Given the description of an element on the screen output the (x, y) to click on. 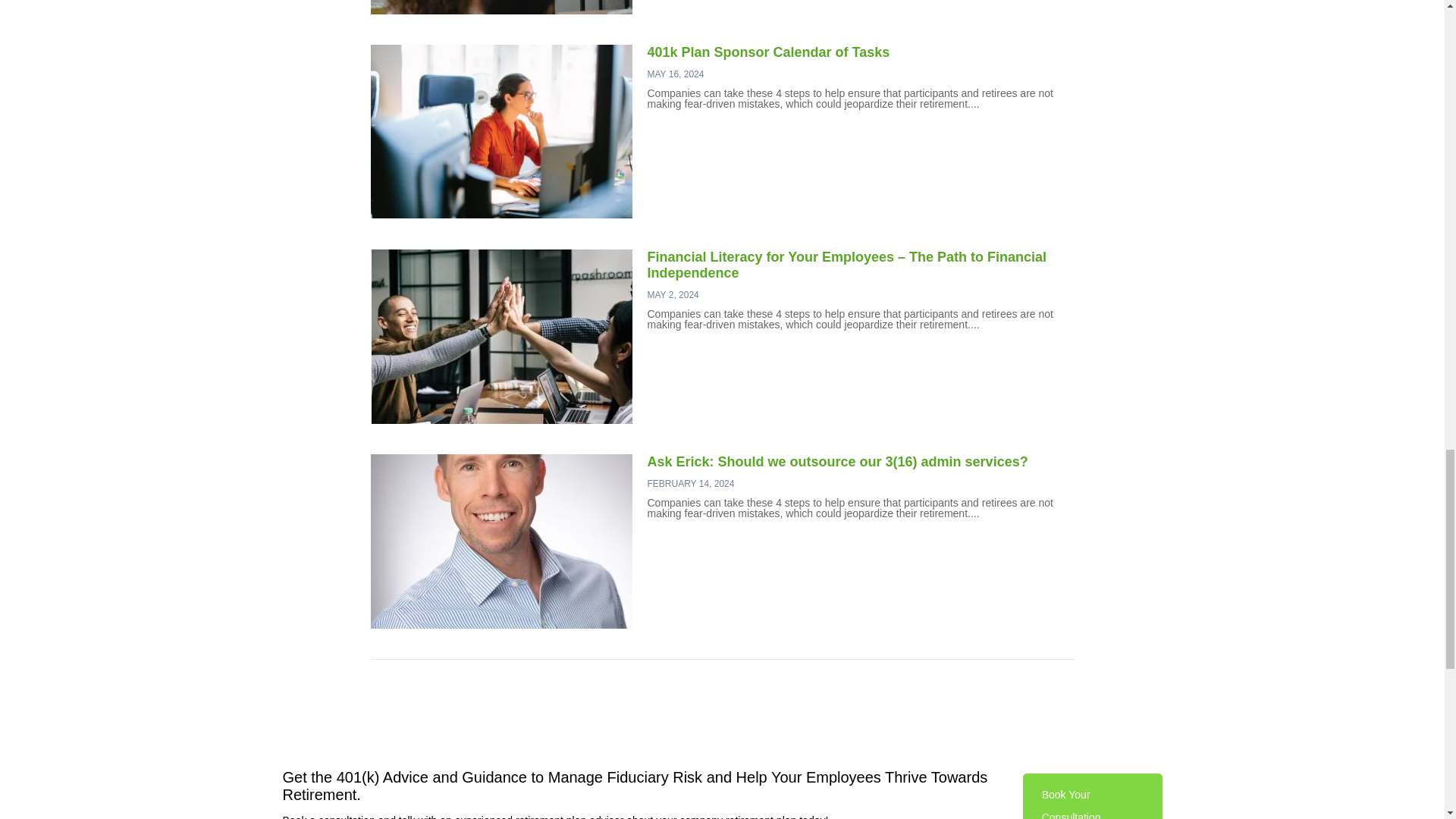
401k Plan Sponsor Calendar of Tasks (768, 51)
